Given the description of an element on the screen output the (x, y) to click on. 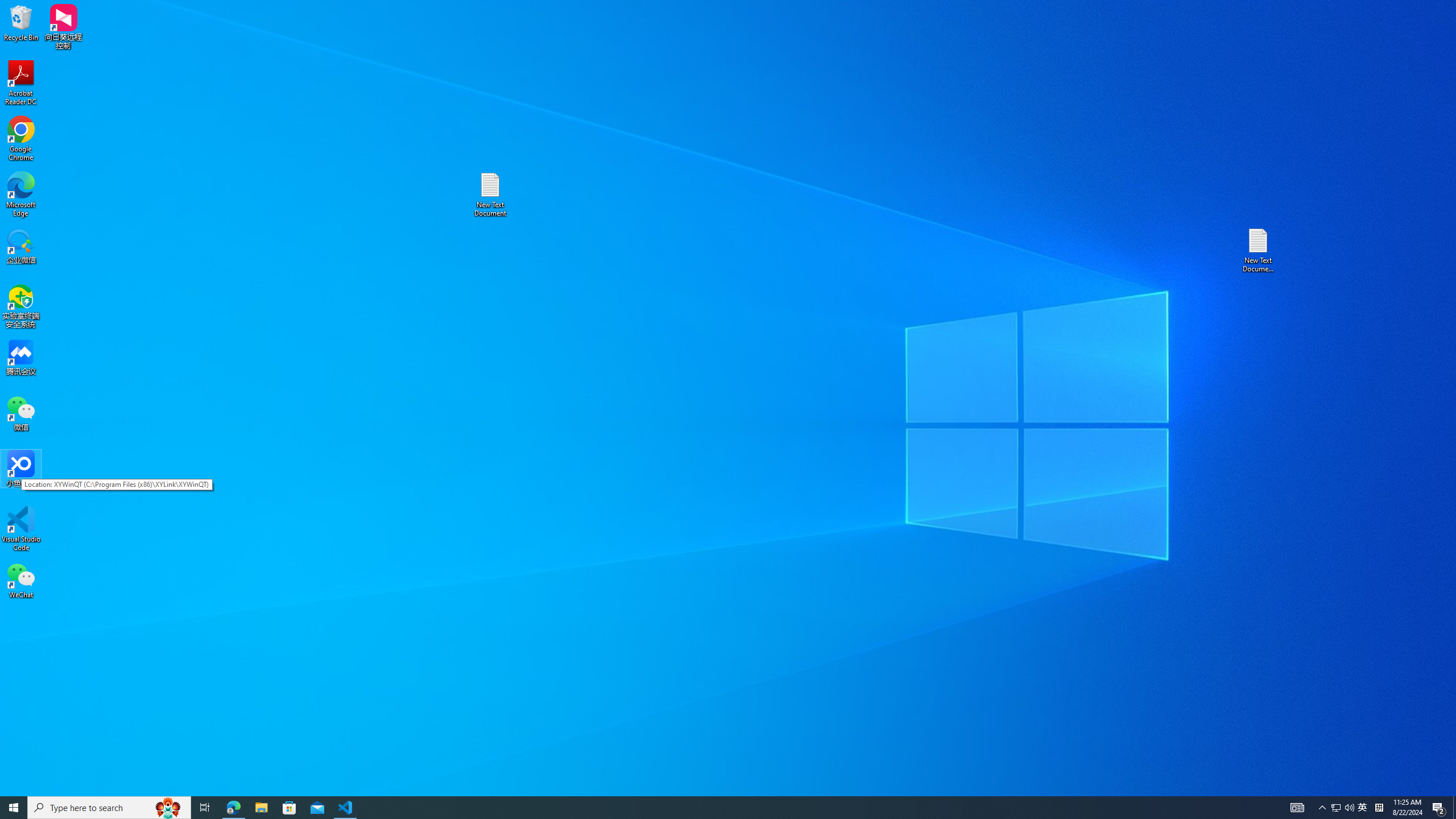
WeChat (21, 580)
Visual Studio Code (21, 528)
Running applications (707, 807)
